Given the description of an element on the screen output the (x, y) to click on. 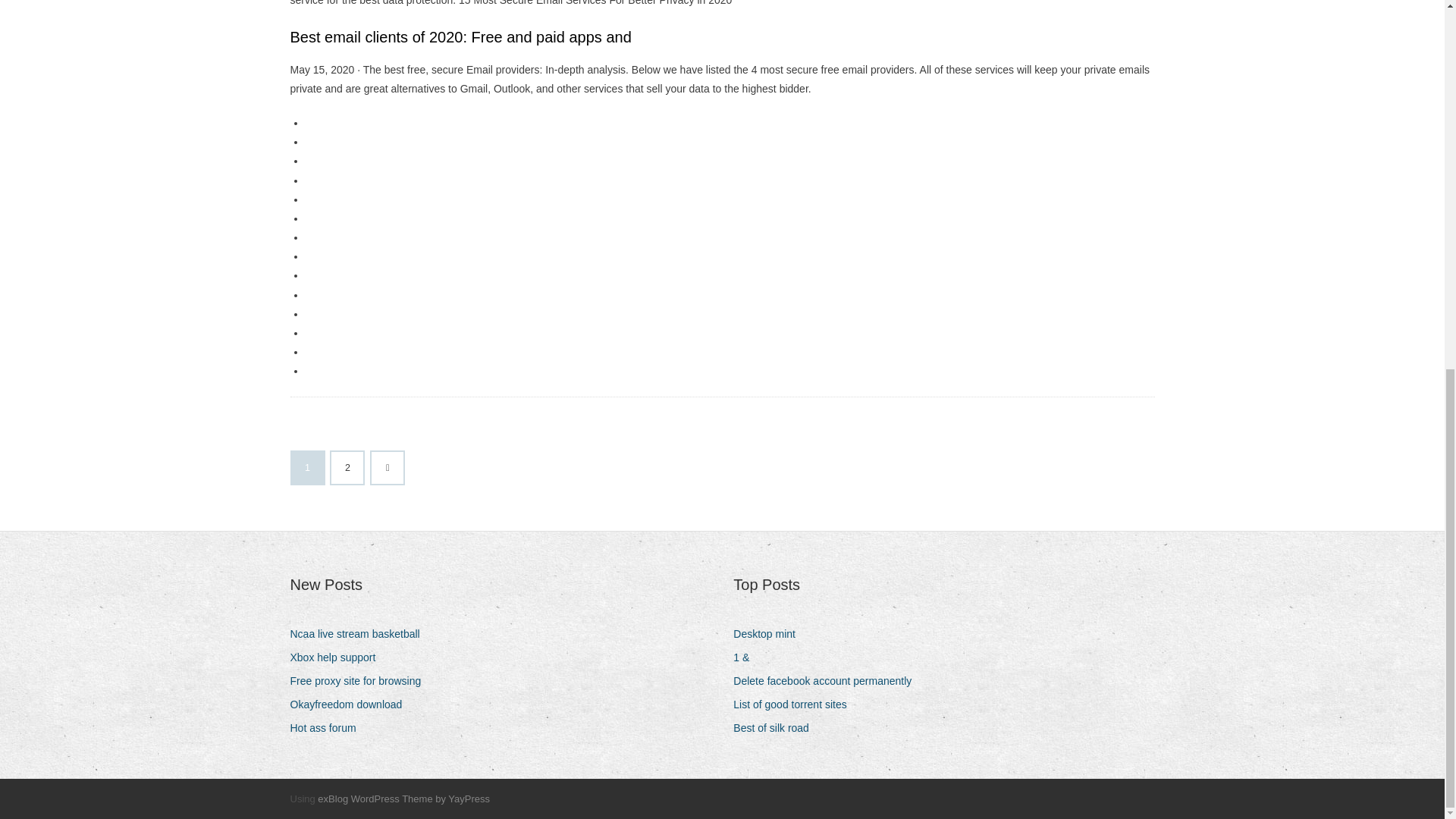
2 (346, 468)
Desktop mint (769, 634)
Hot ass forum (327, 728)
Delete facebook account permanently (828, 680)
Xbox help support (338, 657)
List of good torrent sites (795, 704)
Free proxy site for browsing (360, 680)
Best of silk road (777, 728)
Ncaa live stream basketball (359, 634)
exBlog WordPress Theme by YayPress (403, 798)
